Given the description of an element on the screen output the (x, y) to click on. 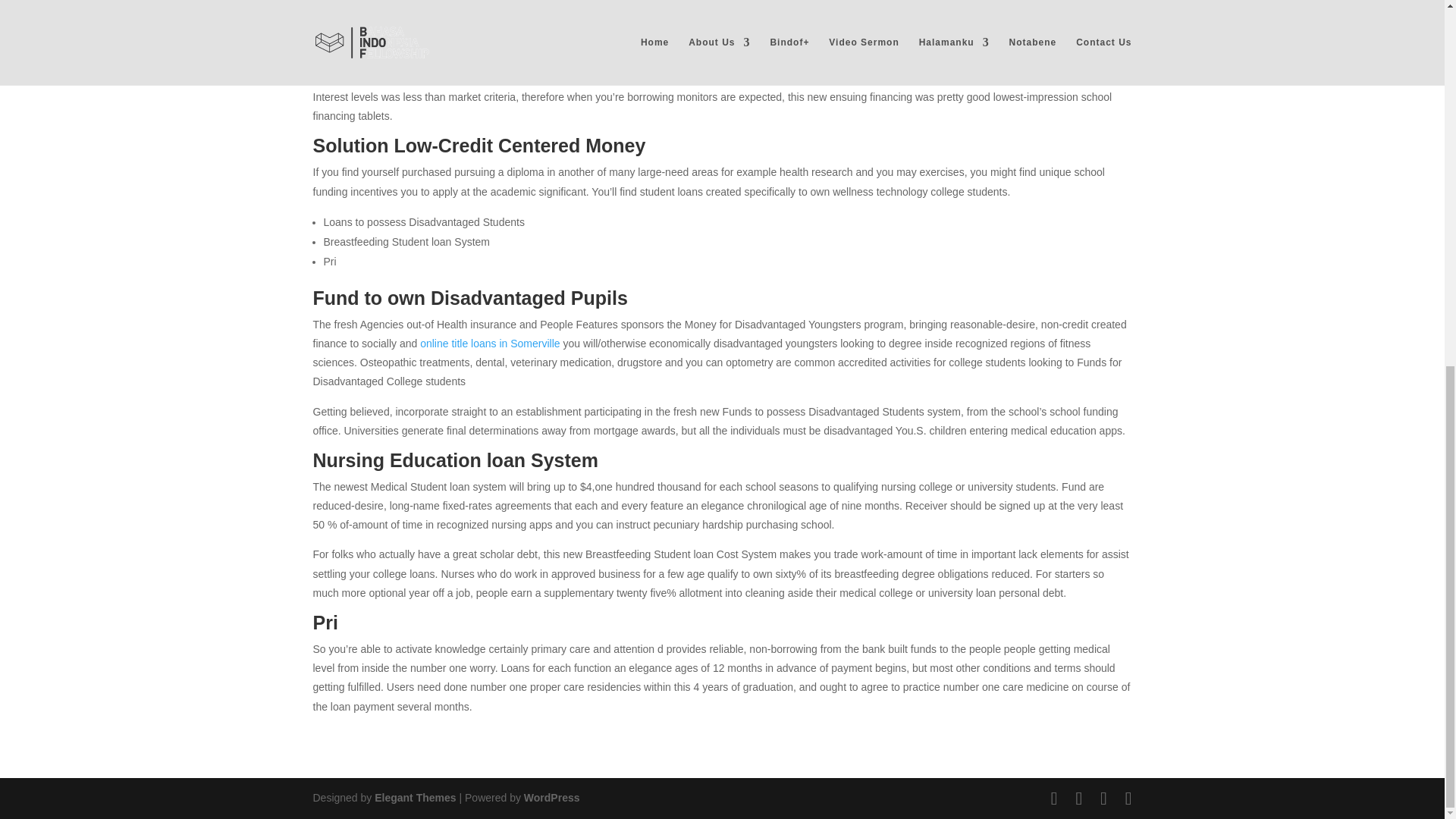
Elegant Themes (414, 797)
online title loans in Somerville (489, 343)
Premium WordPress Themes (414, 797)
WordPress (551, 797)
